Given the description of an element on the screen output the (x, y) to click on. 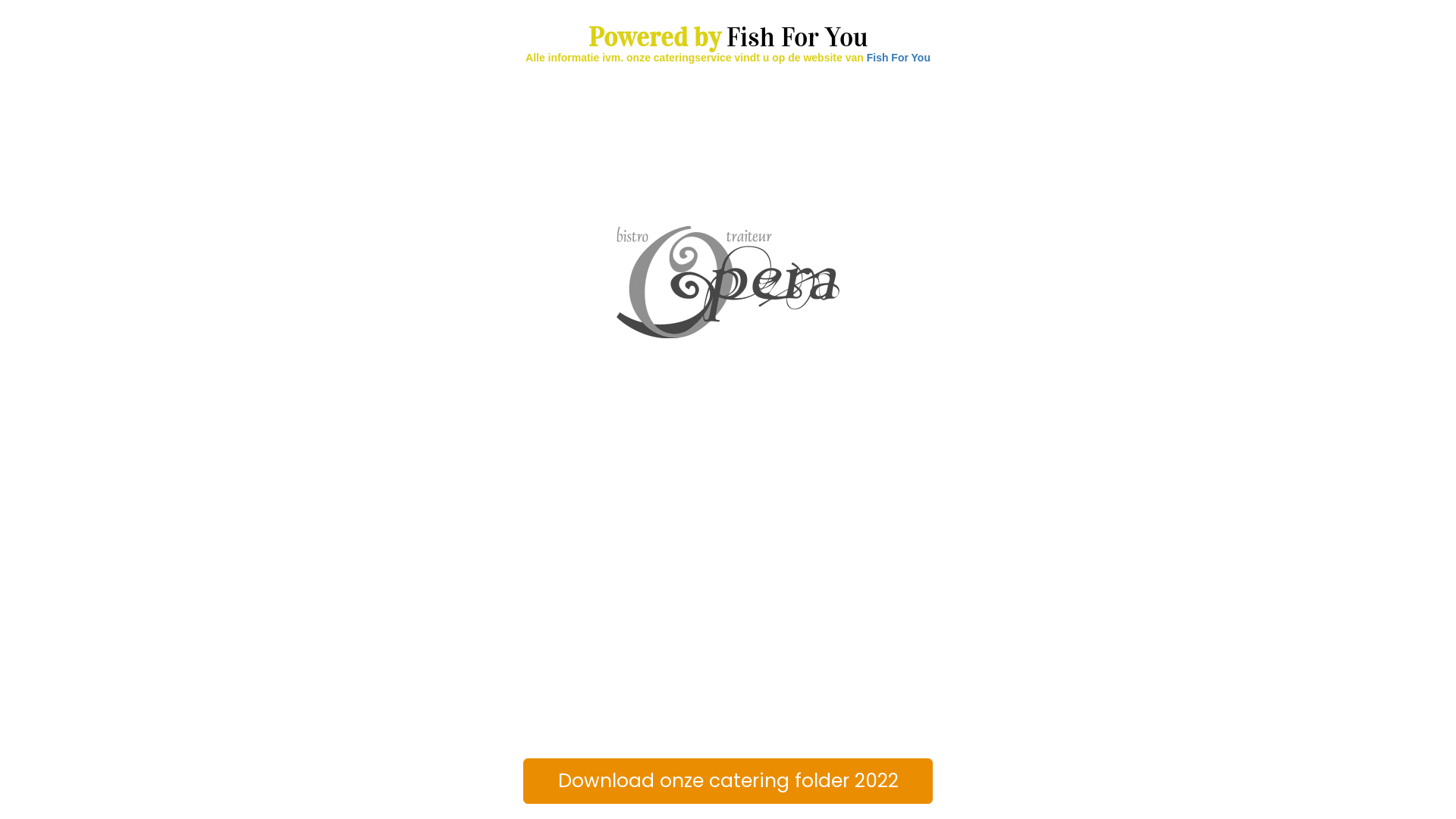
Fish For You Element type: text (797, 37)
Download onze catering folder 2022 Element type: text (727, 780)
Fish For You Element type: text (898, 57)
